Given the description of an element on the screen output the (x, y) to click on. 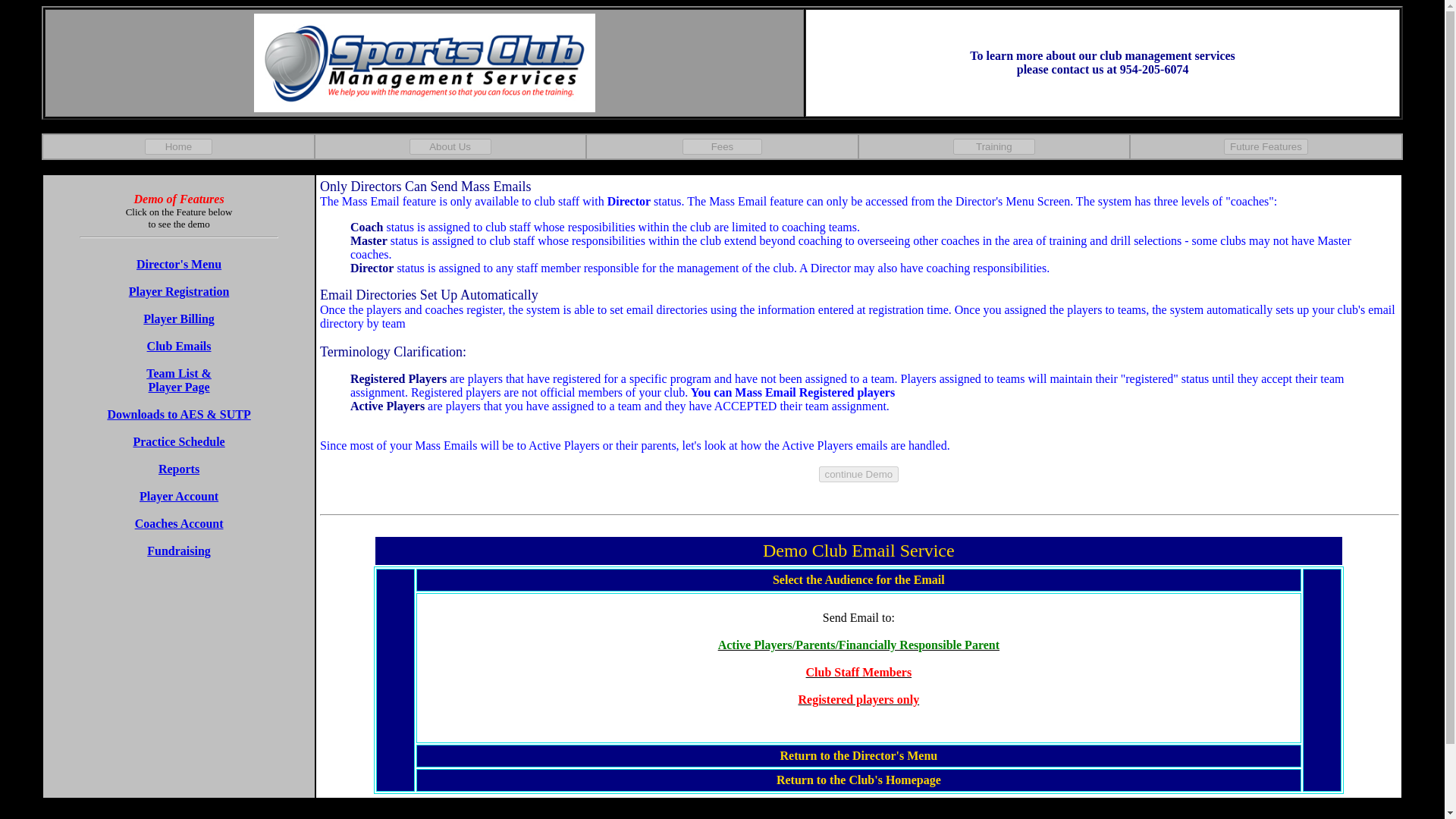
Coaches Account (179, 522)
        Fees         (721, 146)
     About Us      (449, 146)
Fundraising (179, 550)
Club Emails (179, 345)
Future Features (1265, 146)
Player Account (178, 495)
     Home      (178, 146)
     About Us      (449, 146)
Director's Menu (178, 264)
